Given the description of an element on the screen output the (x, y) to click on. 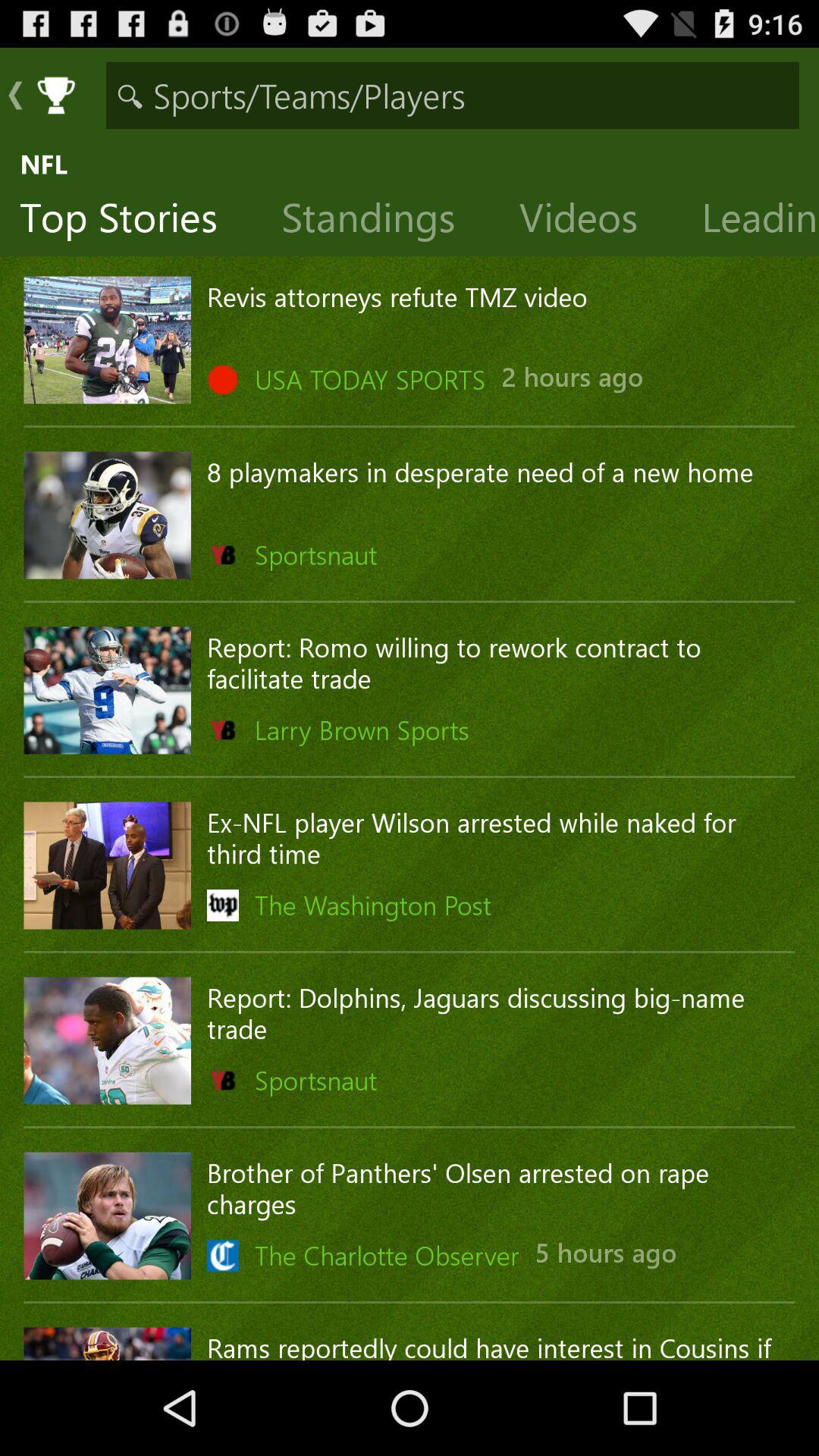
click the item next to the leading players icon (590, 220)
